Given the description of an element on the screen output the (x, y) to click on. 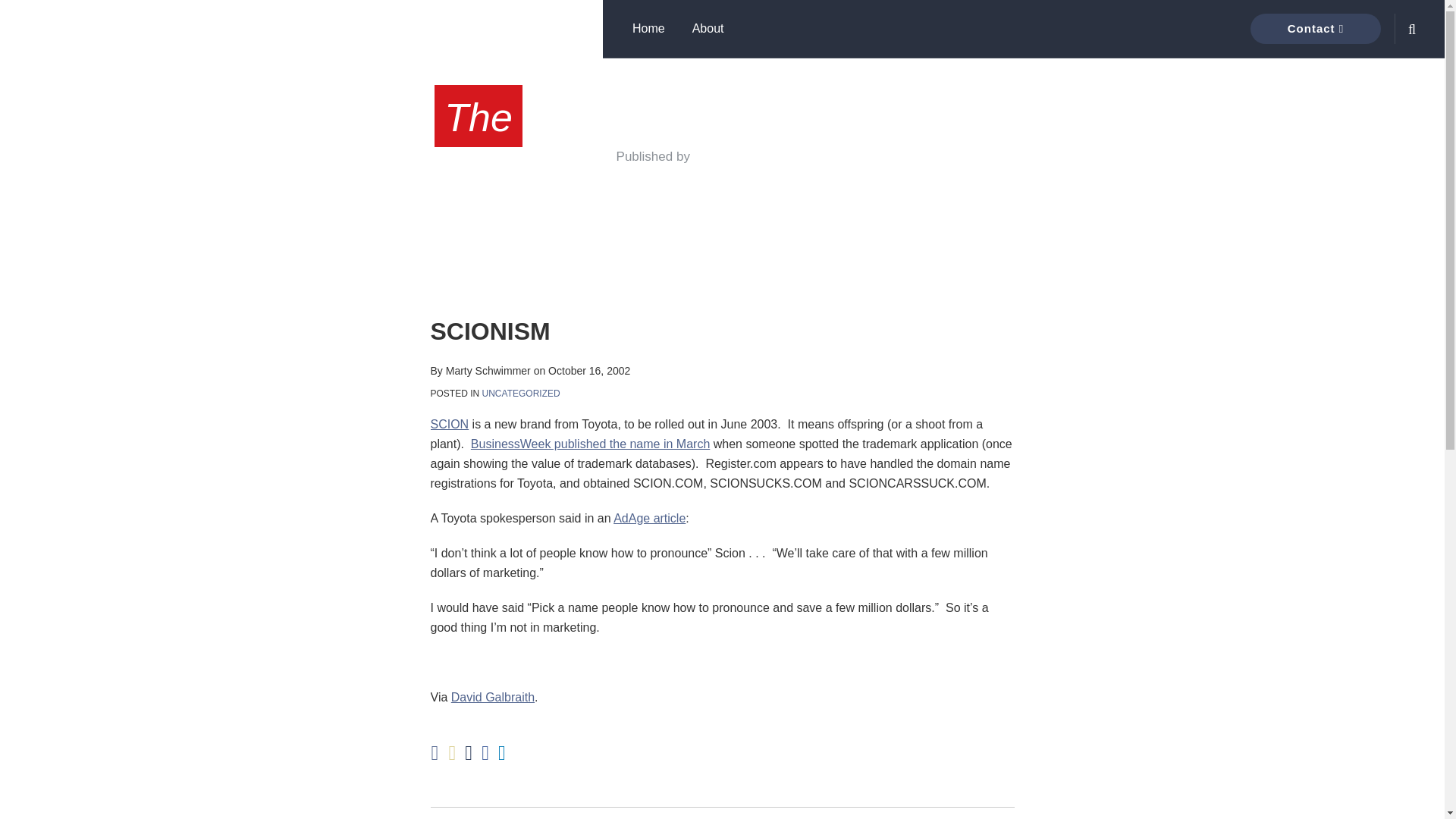
Contact (1315, 28)
The TRADEMARK BLOG (721, 113)
About (708, 28)
AdAge article (648, 517)
SCION (449, 423)
UNCATEGORIZED (520, 393)
Home (648, 28)
Martin Schwimmer (761, 155)
BusinessWeek published the name in March (590, 443)
David Galbraith (492, 697)
